Given the description of an element on the screen output the (x, y) to click on. 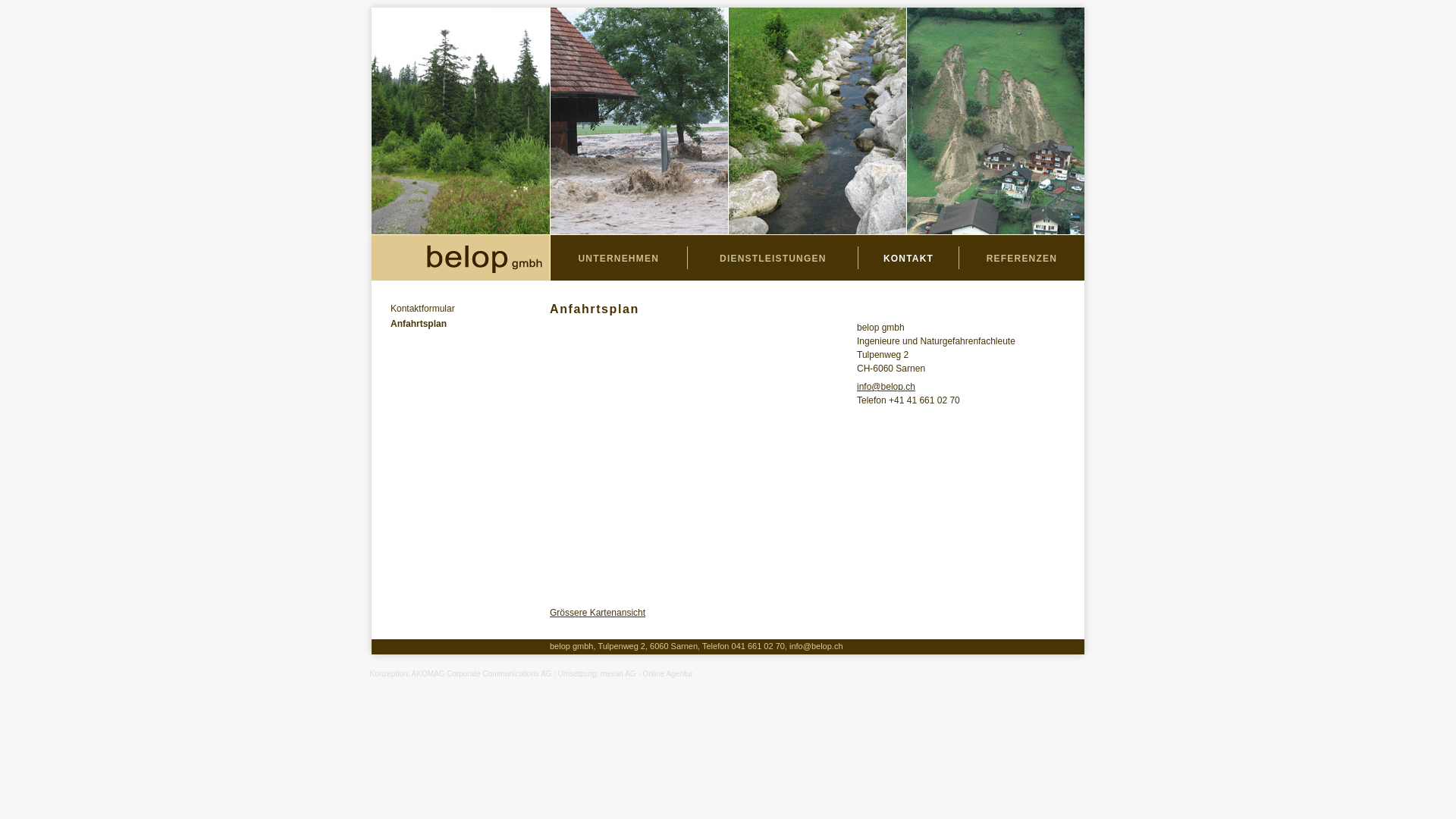
Konzeption: AKOMAG Corporate Communications AG Element type: text (461, 673)
REFERENZEN Element type: text (1021, 258)
KONTAKT Element type: text (908, 258)
UNTERNEHMEN Element type: text (618, 258)
info@belop.ch Element type: text (885, 386)
info@belop.ch Element type: text (816, 645)
Kontaktformular Element type: text (469, 310)
DIENSTLEISTUNGEN Element type: text (772, 258)
Umsetzung: mexan AG - Online Agentur Element type: text (625, 673)
Anfahrtsplan Element type: text (469, 325)
